Given the description of an element on the screen output the (x, y) to click on. 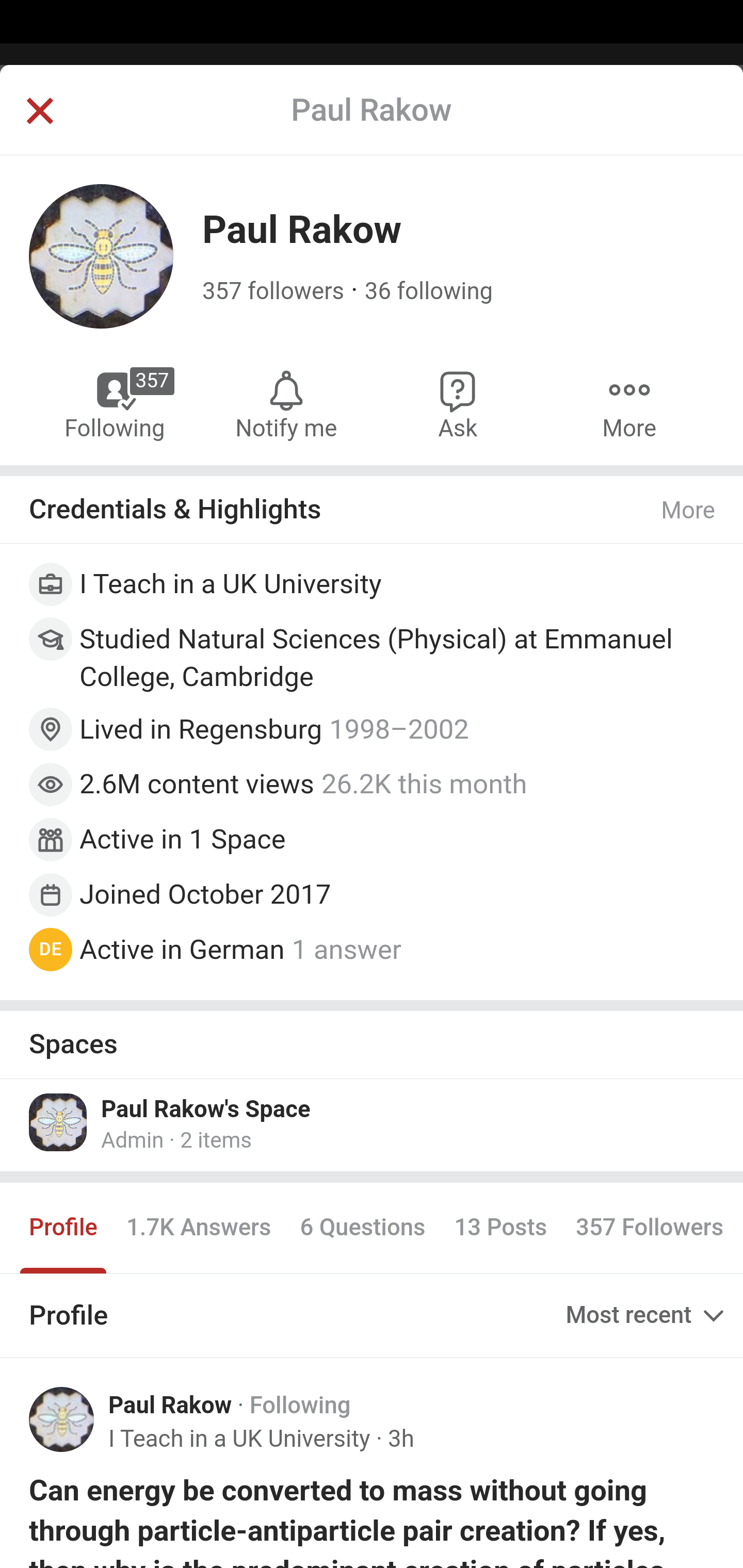
Me Home Search Add (371, 125)
 (39, 112)
357 followers (273, 291)
36 following (428, 291)
Following Paul Rakow 357 Following (115, 404)
Notify me (285, 404)
Ask (458, 404)
More (628, 404)
More (688, 510)
Add employment credential (372, 587)
Active in German Active in  German (182, 948)
Icon for Paul Rakow's Space (58, 1121)
Paul Rakow's Space (206, 1108)
Profile (63, 1227)
1.7K Answers (197, 1227)
6 Questions (362, 1227)
13 Posts (500, 1227)
357 Followers (648, 1227)
Most recent (647, 1315)
Profile photo for Paul Rakow (61, 1419)
Paul Rakow (170, 1405)
Following (300, 1405)
3h 3 h (400, 1439)
